Given the description of an element on the screen output the (x, y) to click on. 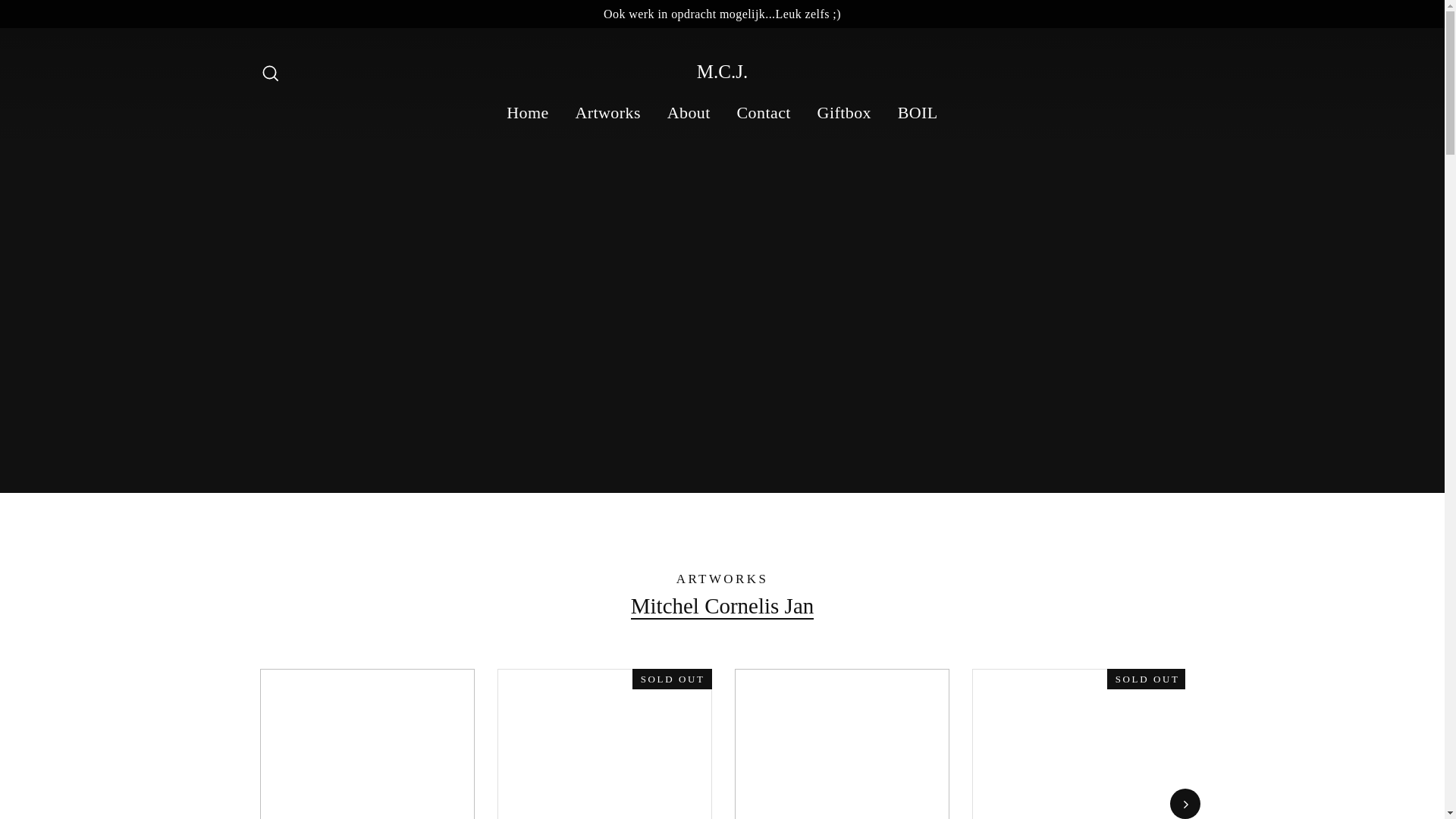
About (689, 112)
Mr. White (366, 744)
Search (269, 71)
Mitchel Cornelis Jan (721, 606)
The Rise (841, 744)
M.C.J. (722, 71)
Home (527, 112)
Contact (763, 112)
Intertwined (604, 744)
BOIL (917, 112)
Speechless (1079, 744)
Artworks (607, 112)
Giftbox (844, 112)
